Given the description of an element on the screen output the (x, y) to click on. 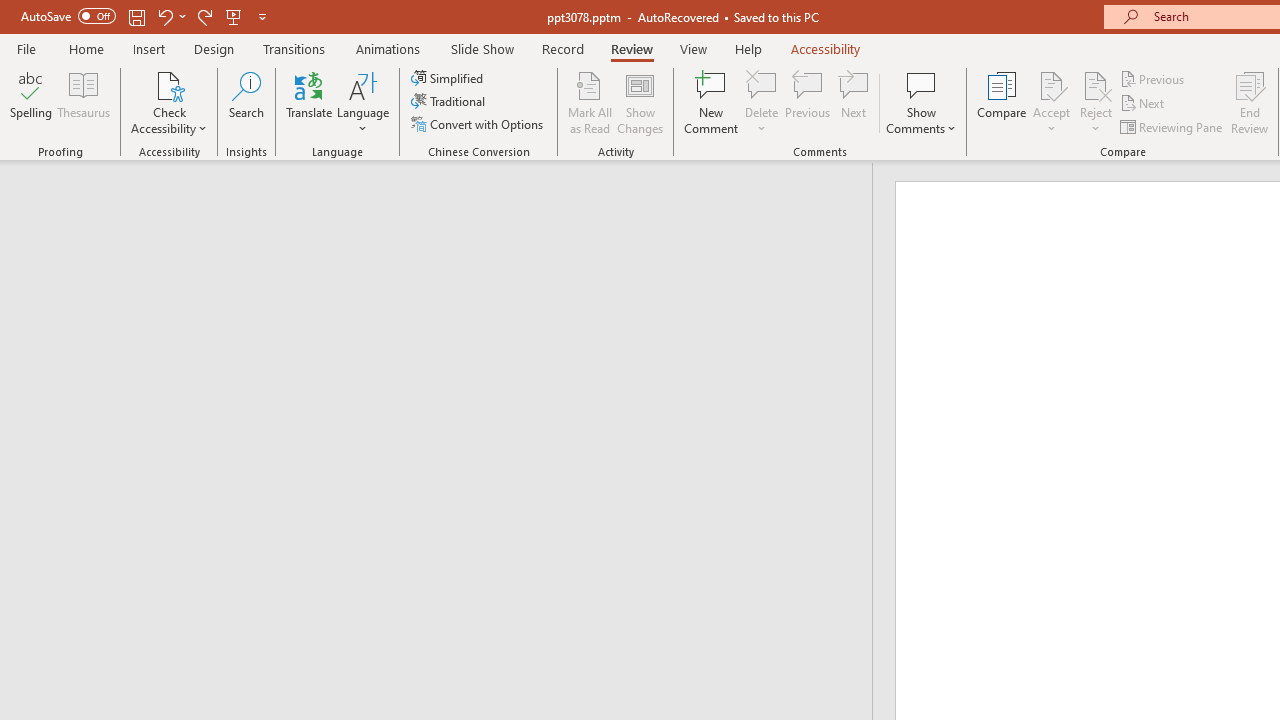
Next (1144, 103)
Accept (1051, 102)
